Given the description of an element on the screen output the (x, y) to click on. 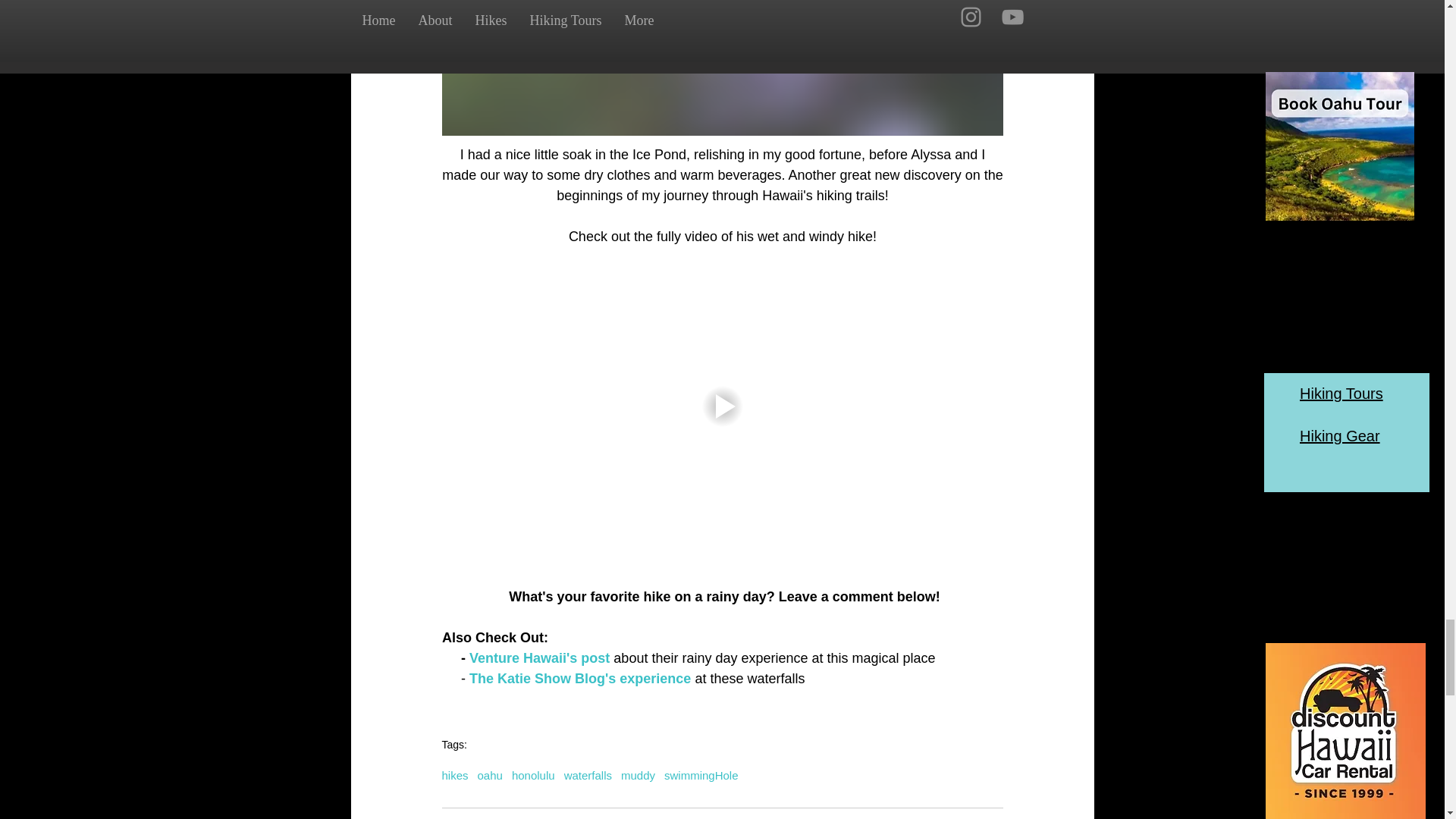
hikes (454, 775)
The Katie Show Blog's experience (579, 678)
Venture Hawaii's post (539, 657)
swimmingHole (700, 775)
honolulu (533, 775)
waterfalls (587, 775)
oahu (489, 775)
muddy (638, 775)
